Given the description of an element on the screen output the (x, y) to click on. 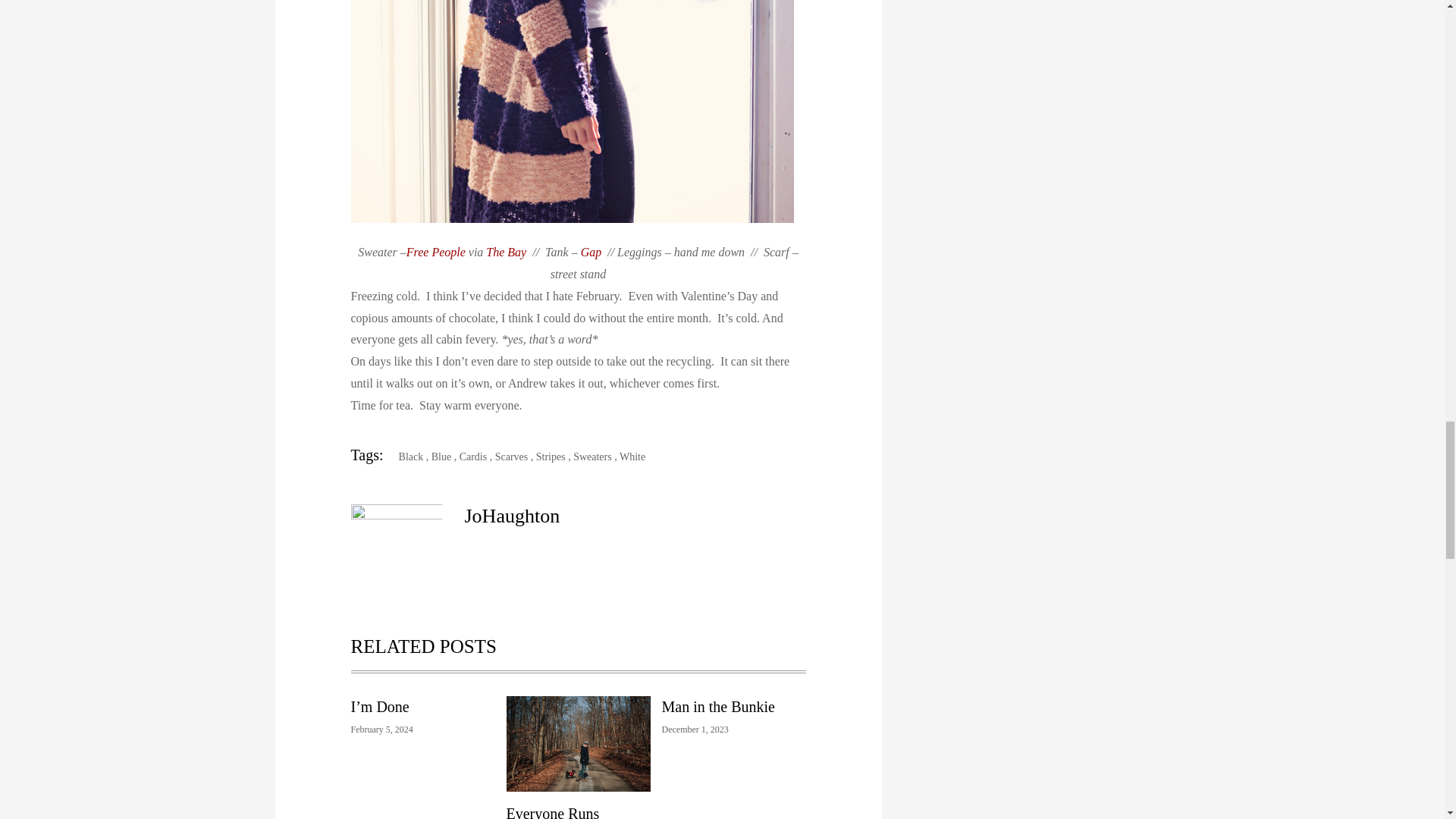
Cardis (473, 456)
Black (405, 456)
Gap (591, 251)
Scarves (511, 456)
Blue (440, 456)
Sweaters (592, 456)
Free People (435, 251)
The Bay (505, 251)
Everyone Runs (552, 812)
White (632, 456)
